Given the description of an element on the screen output the (x, y) to click on. 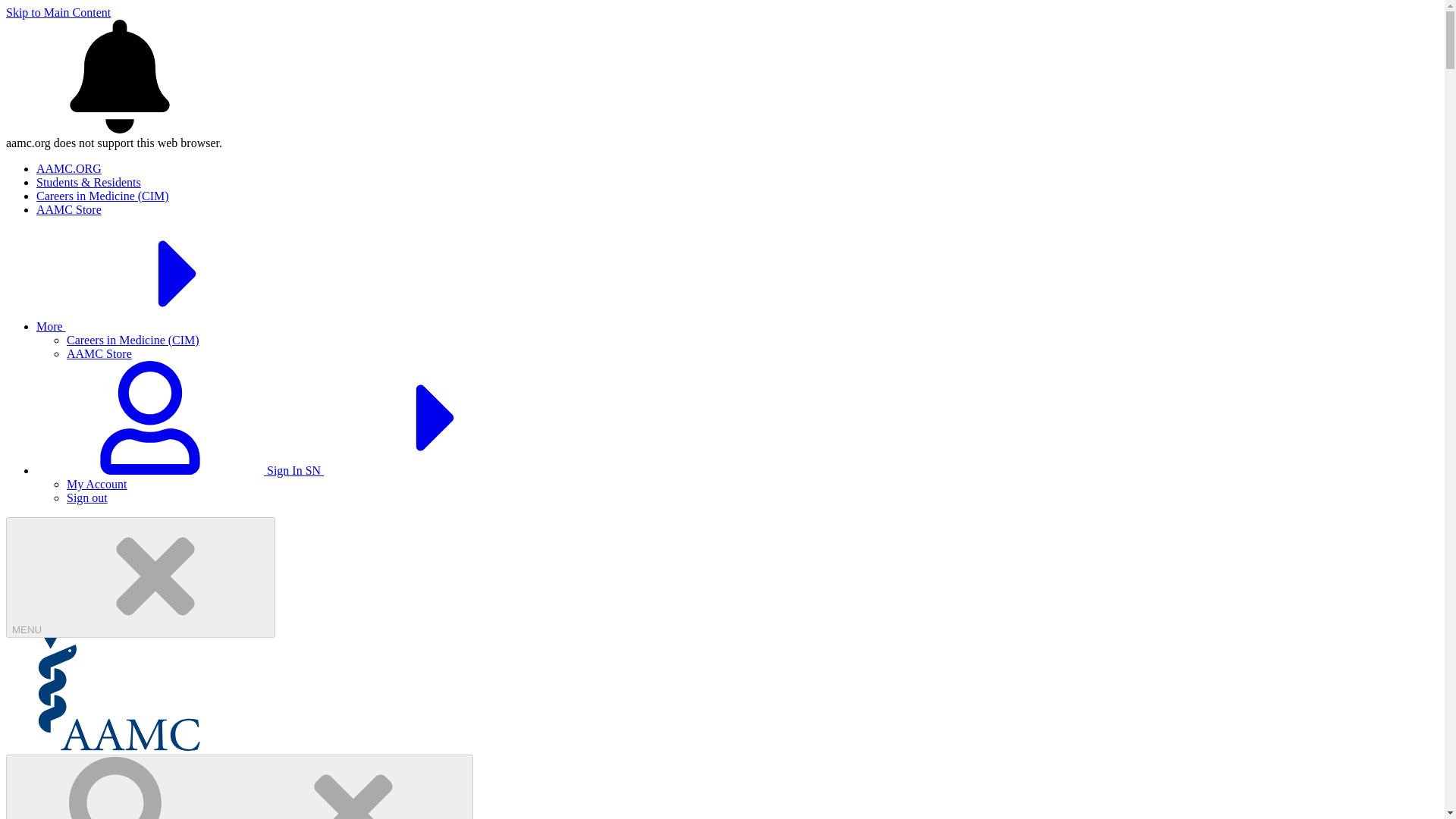
Sign out (86, 497)
AAMC Store (99, 353)
More (165, 326)
AAMC Store (68, 209)
Sign In SN (293, 470)
AAMC (118, 747)
AAMC.ORG (68, 168)
Skip to Main Content (57, 11)
MENU (140, 577)
My Account (97, 483)
